Given the description of an element on the screen output the (x, y) to click on. 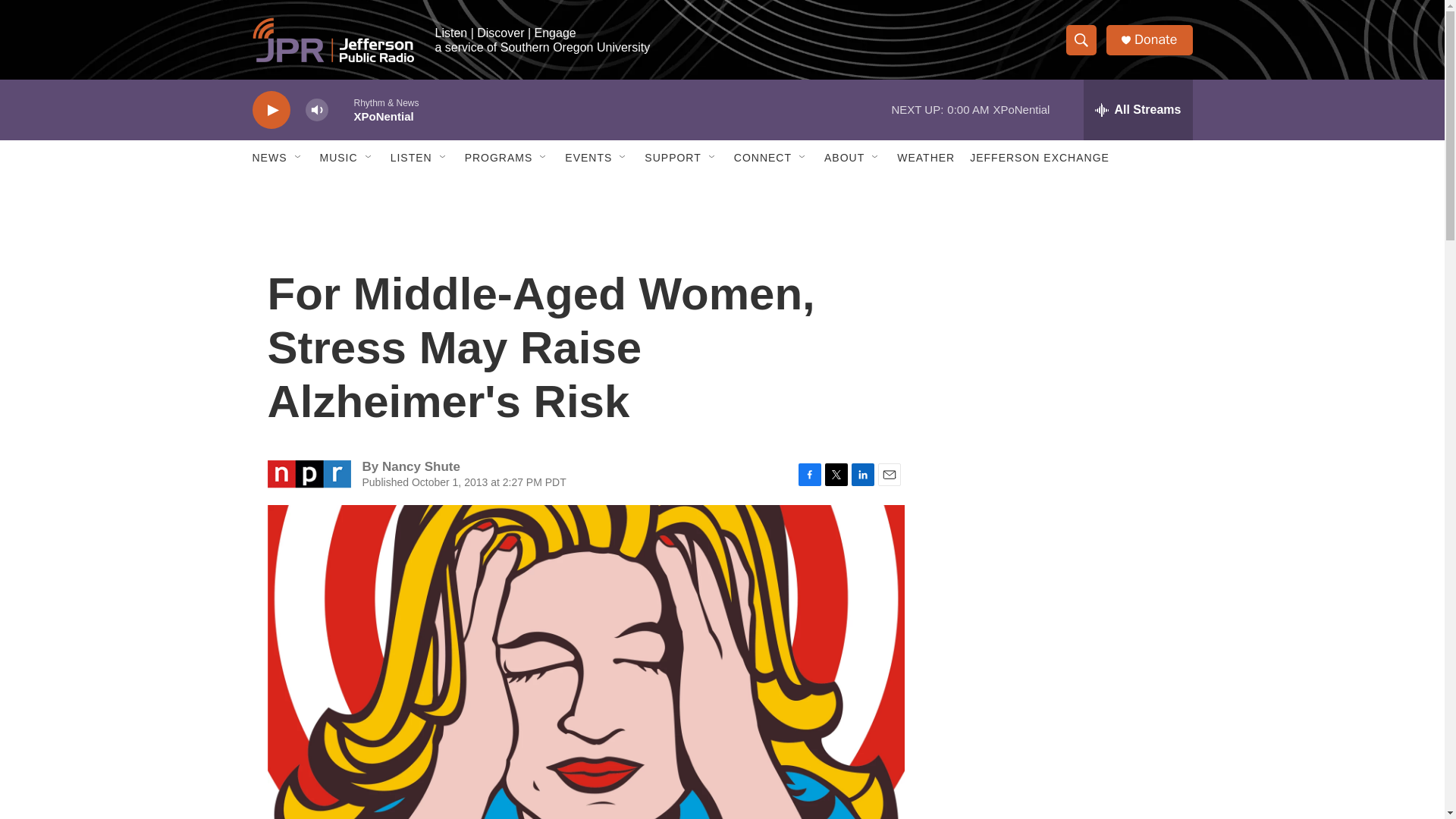
3rd party ad content (1062, 316)
3rd party ad content (1062, 536)
3rd party ad content (1062, 740)
